Given the description of an element on the screen output the (x, y) to click on. 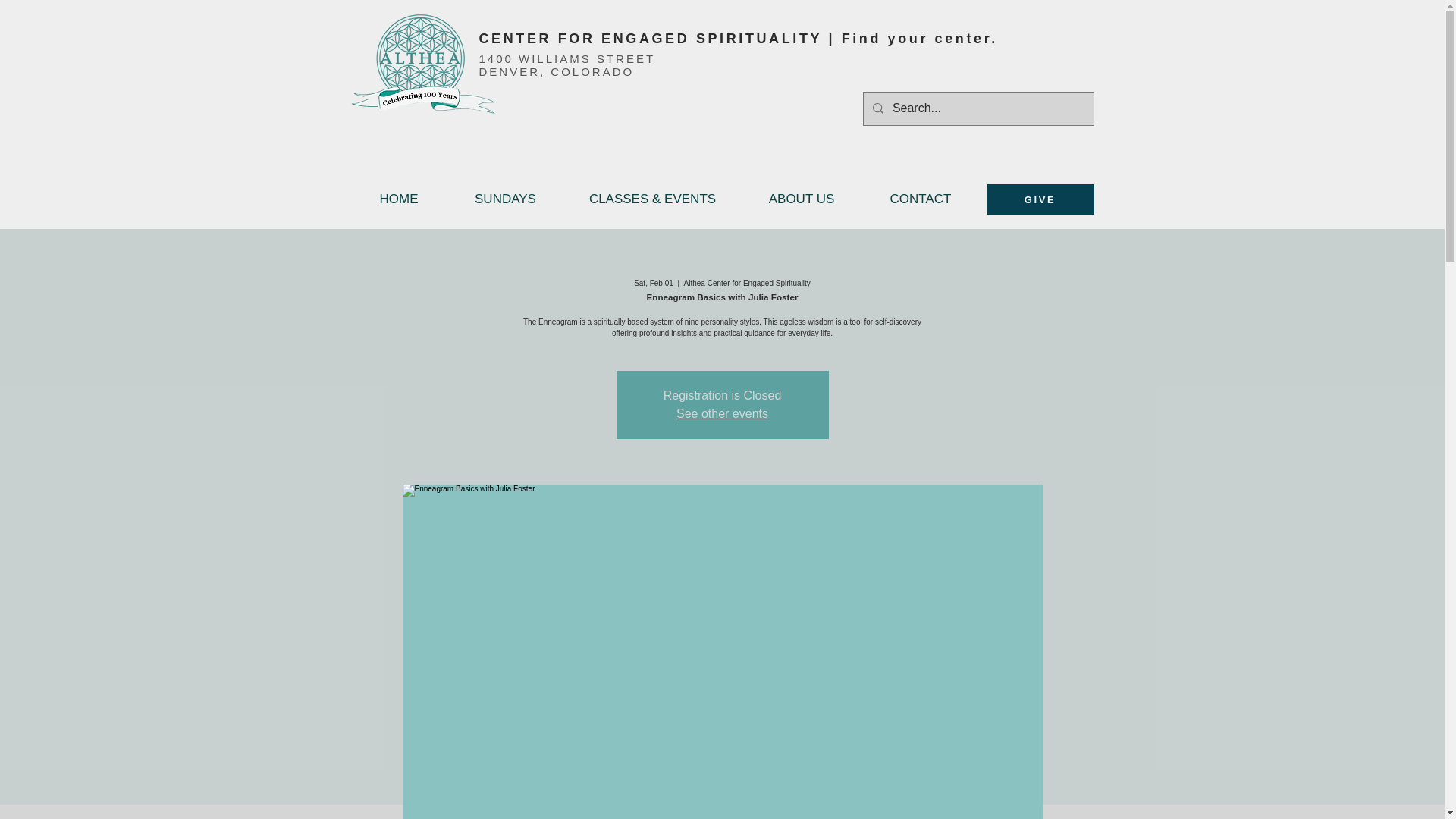
ABOUT US (801, 199)
CONTACT (919, 199)
SUNDAYS (505, 199)
GIVE (1039, 199)
See other events (722, 413)
HOME (398, 199)
